Given the description of an element on the screen output the (x, y) to click on. 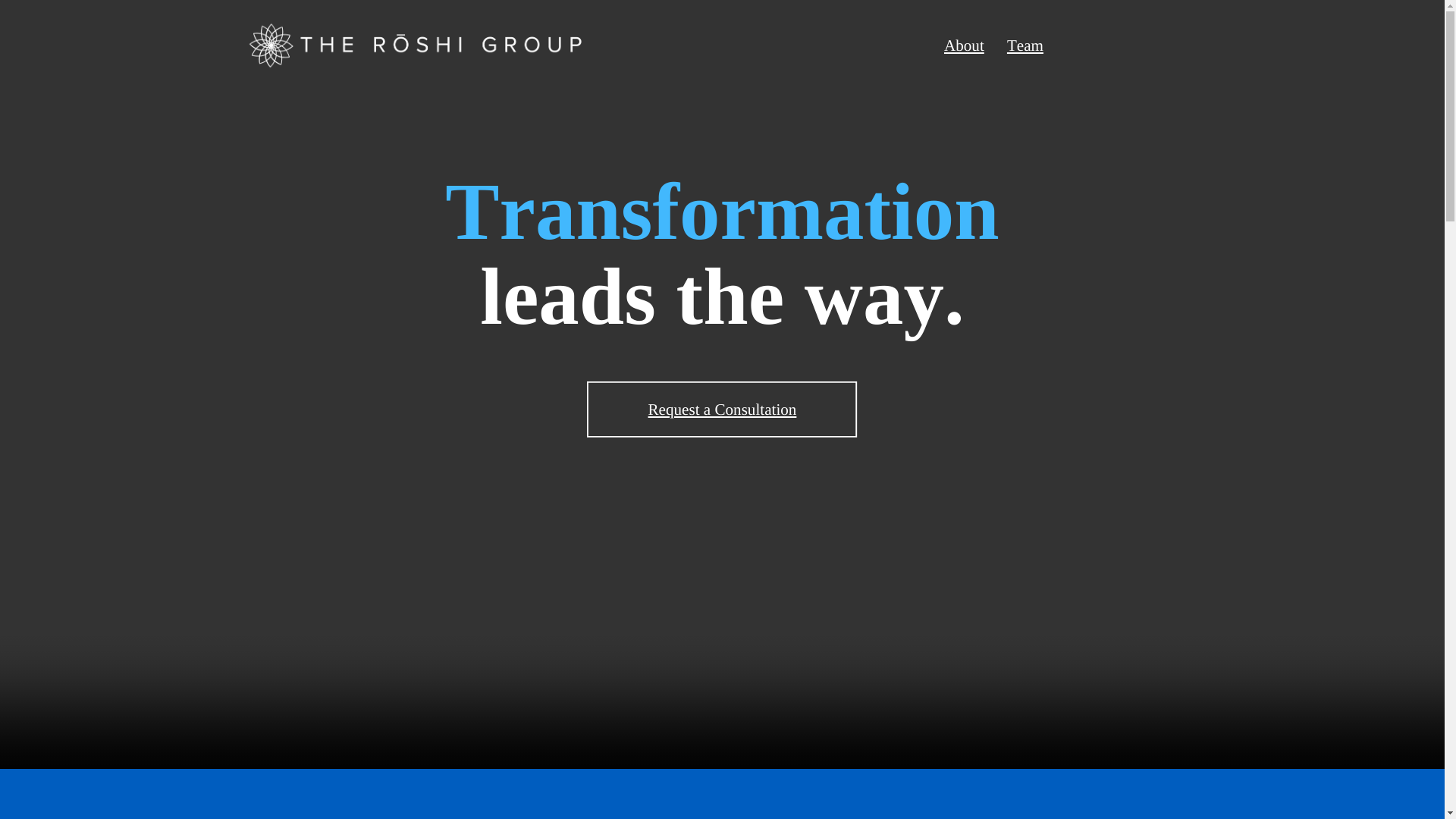
Request a Consultation (721, 409)
Team (1025, 45)
About (963, 45)
